Given the description of an element on the screen output the (x, y) to click on. 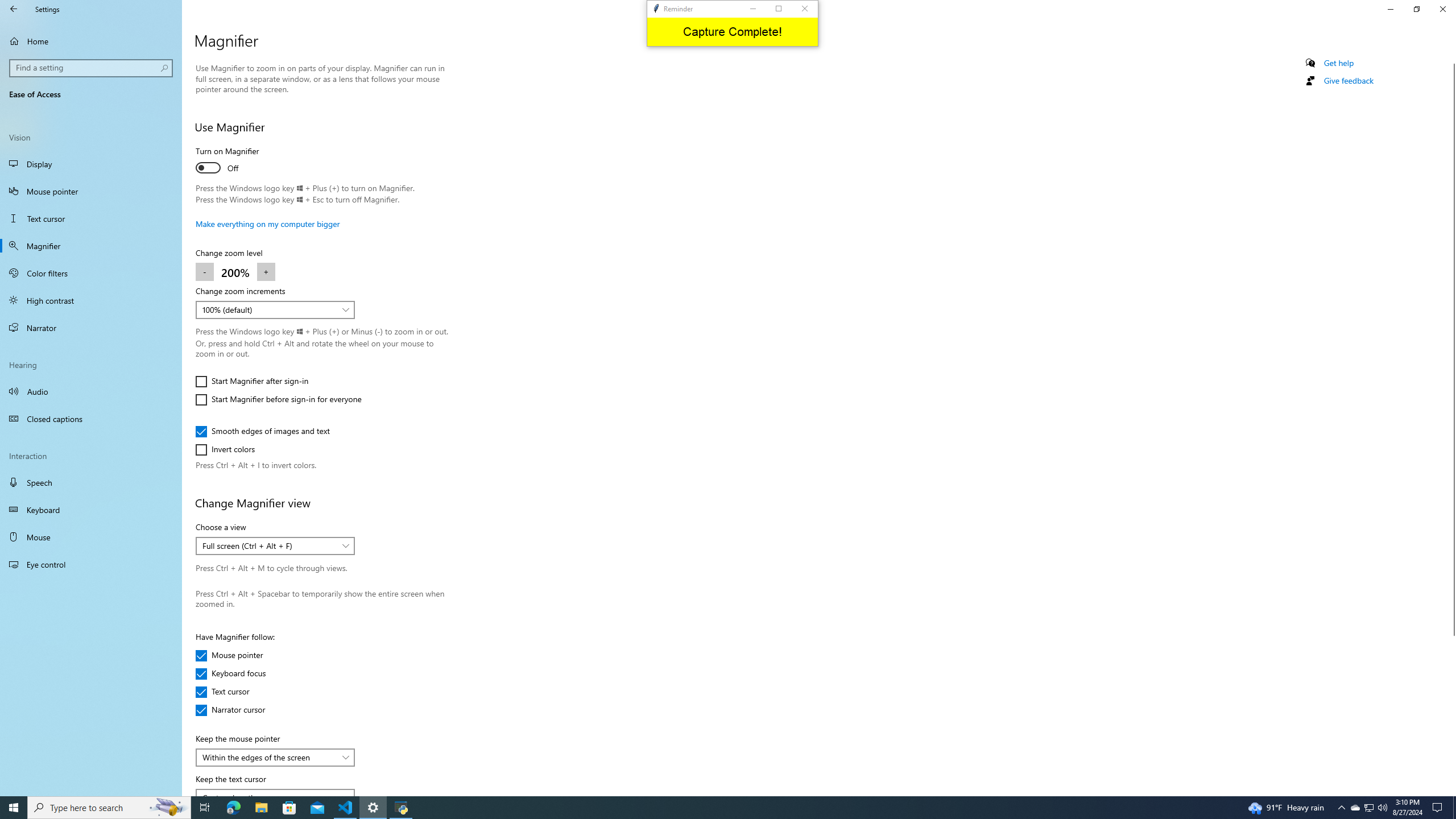
100% (default) (269, 309)
Invert colors (229, 449)
Eye control (91, 564)
Search box, Find a setting (91, 67)
Choose a view (275, 546)
Keep the mouse pointer (275, 757)
Running applications (717, 807)
Vertical (1451, 425)
Full screen (Ctrl + Alt + F) (269, 545)
